Given the description of an element on the screen output the (x, y) to click on. 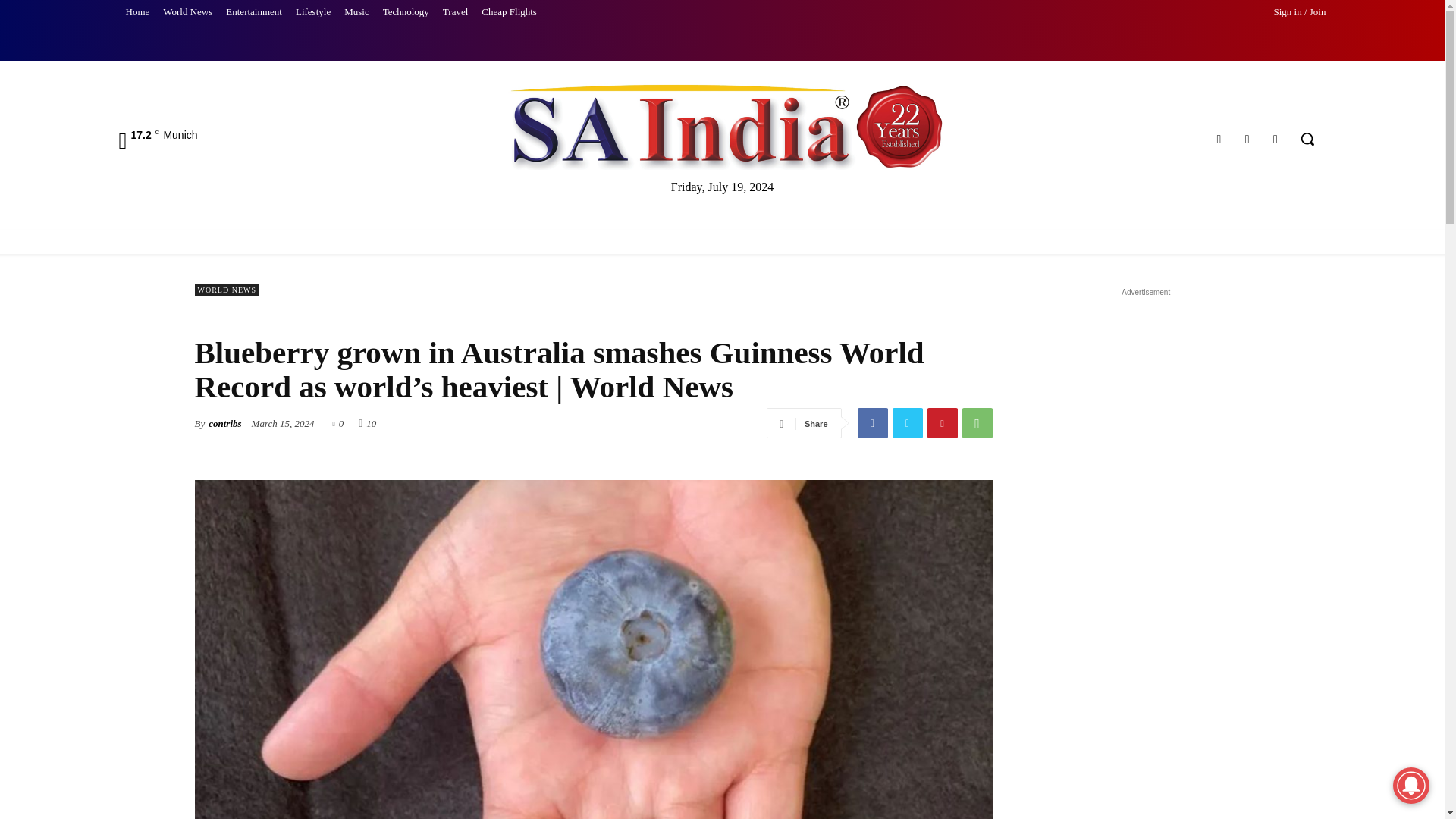
Youtube (1275, 138)
Facebook (1218, 138)
Twitter (1246, 138)
